Given the description of an element on the screen output the (x, y) to click on. 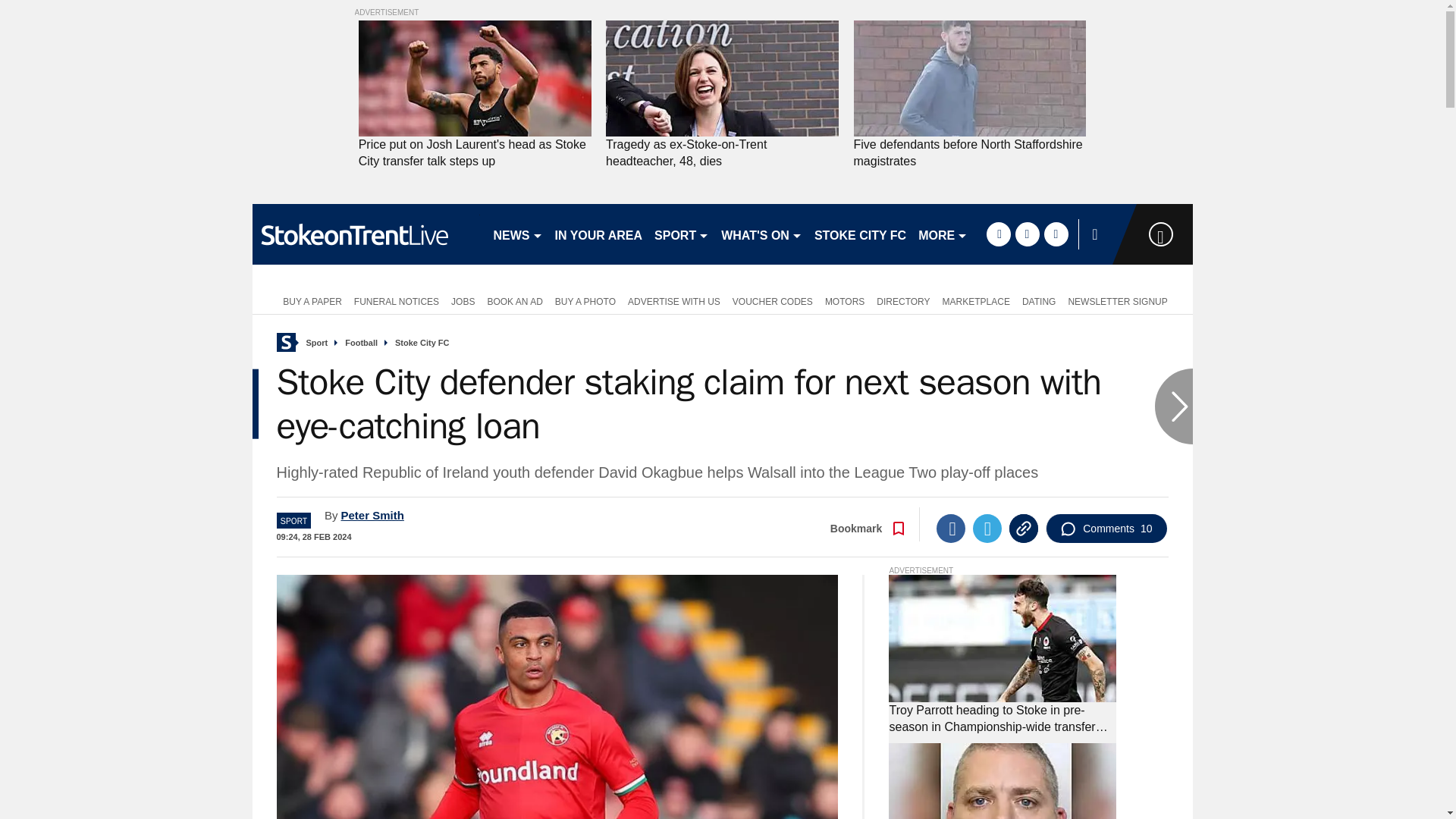
SPORT (680, 233)
Five defendants before North Staffordshire magistrates (969, 152)
Twitter (986, 528)
Tragedy as ex-Stoke-on-Trent headteacher, 48, dies (721, 152)
Tragedy as ex-Stoke-on-Trent headteacher, 48, dies (721, 152)
twitter (1026, 233)
Five defendants before North Staffordshire magistrates (969, 152)
stokesentinel (365, 233)
NEWS (517, 233)
facebook (997, 233)
instagram (1055, 233)
Facebook (950, 528)
